Given the description of an element on the screen output the (x, y) to click on. 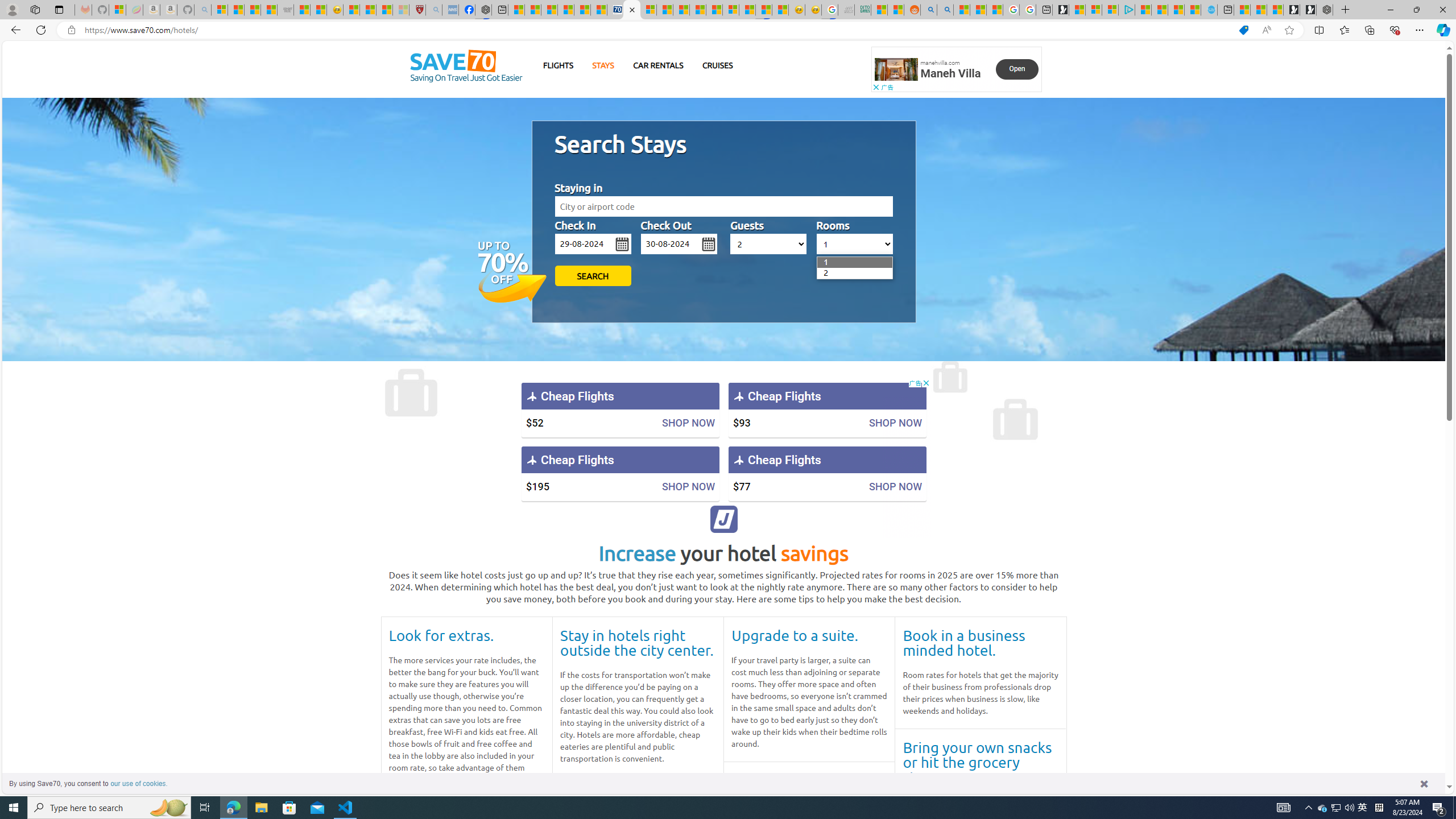
SEARCH (592, 275)
mm/dd/yy (678, 243)
Cheap Flights $77 SHOP NOW (827, 473)
CRUISES (717, 65)
Cheap Hotels - Save70.com (631, 9)
